Given the description of an element on the screen output the (x, y) to click on. 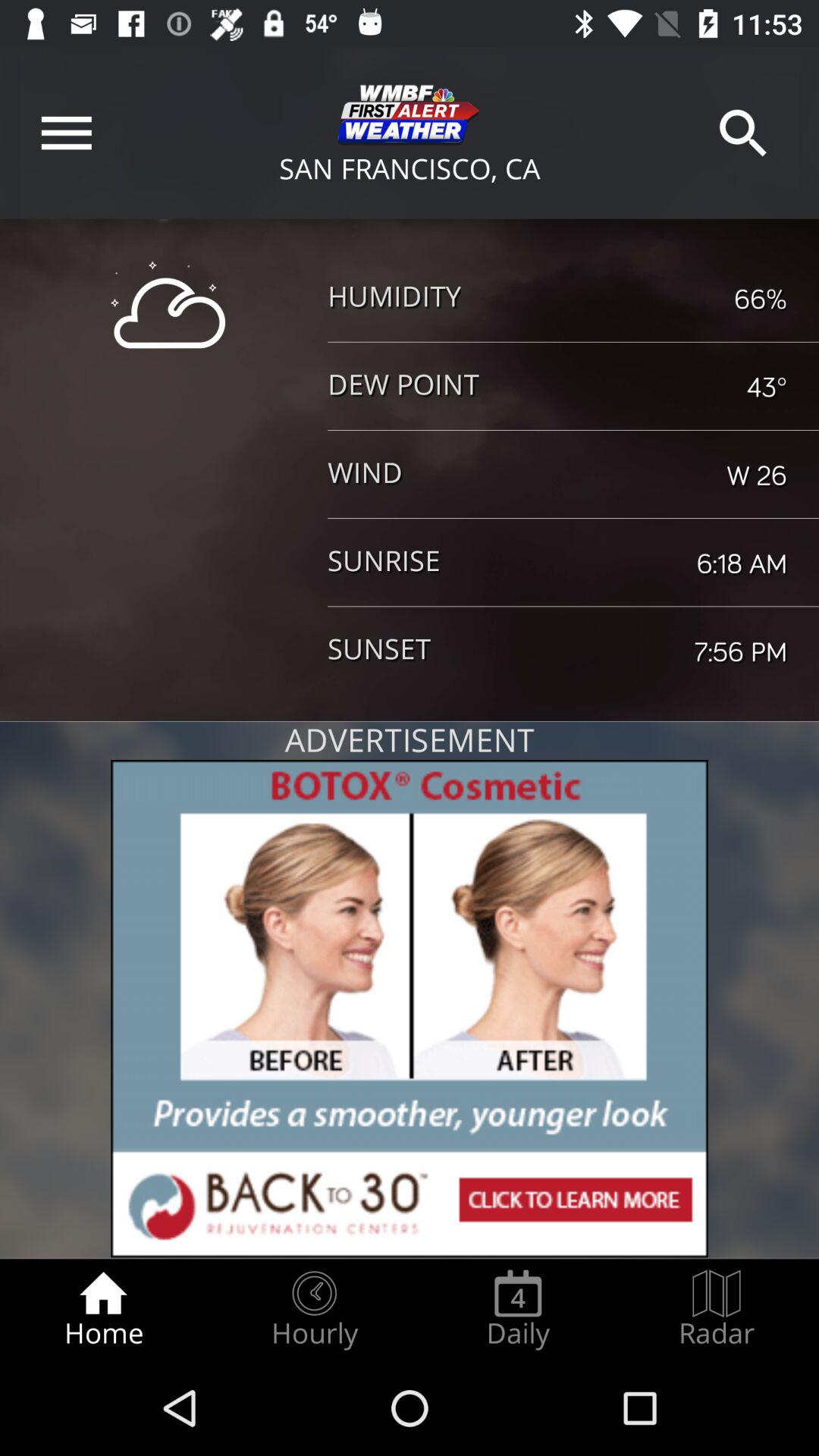
open the icon next to hourly radio button (518, 1309)
